Given the description of an element on the screen output the (x, y) to click on. 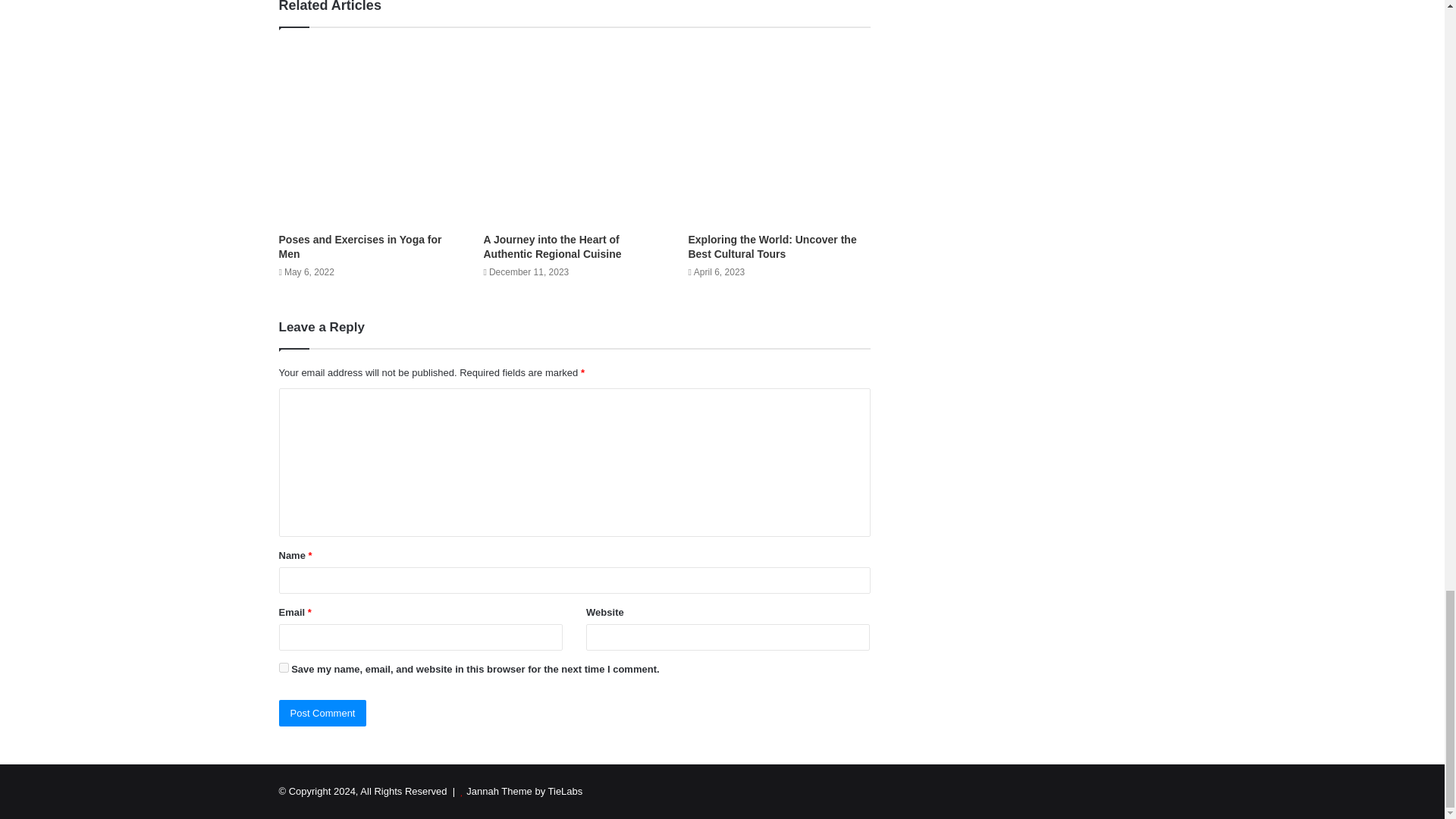
Post Comment (322, 713)
yes (283, 667)
